Given the description of an element on the screen output the (x, y) to click on. 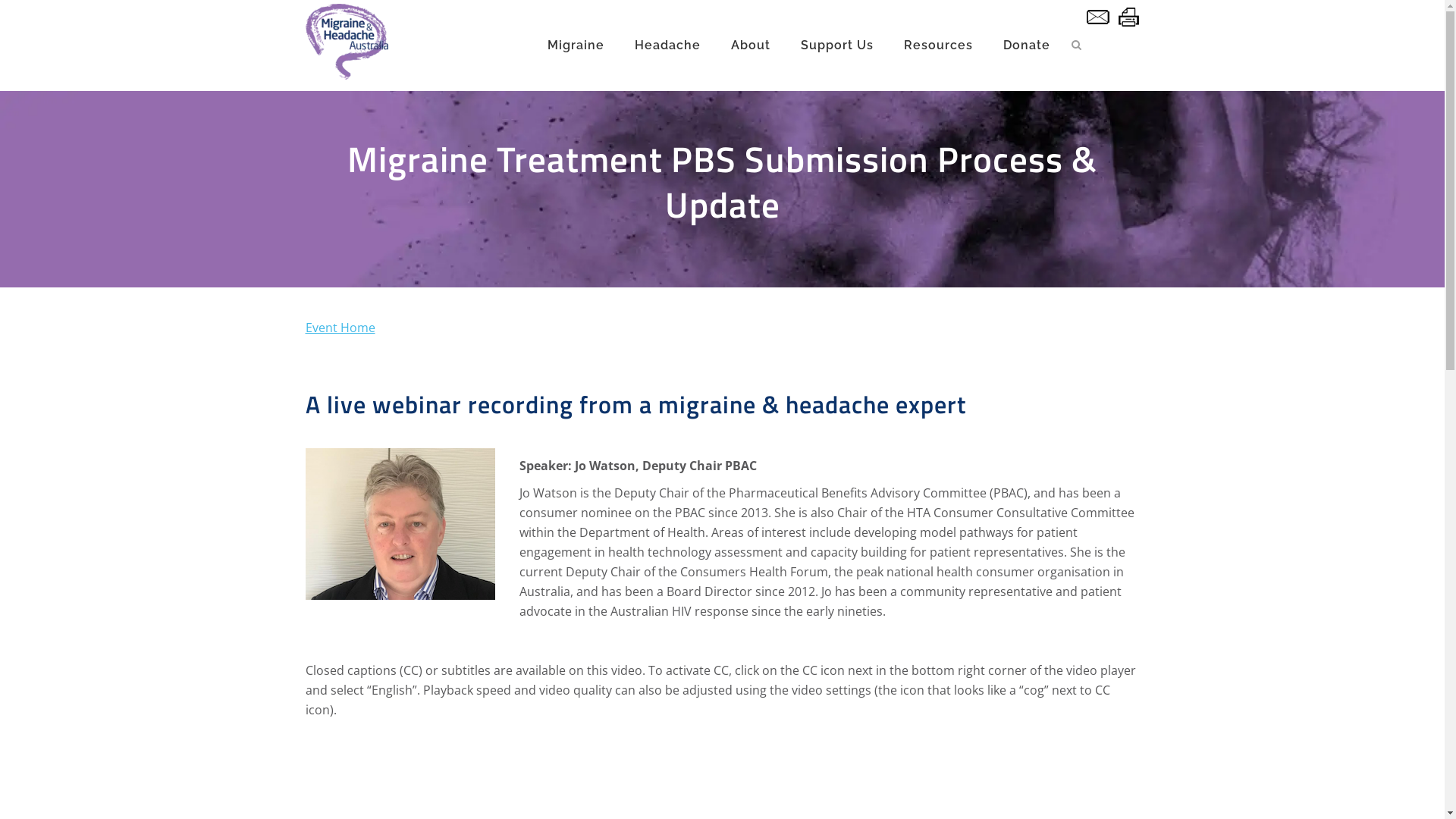
About Element type: text (750, 45)
Support Us Element type: text (836, 45)
Resources Element type: text (938, 45)
Screen Shot 2020-08-30 at 9.44.48 am Element type: hover (399, 523)
Migraine Element type: text (575, 45)
Donate Element type: text (1025, 45)
Event Home Element type: text (339, 327)
Headache Element type: text (666, 45)
